Given the description of an element on the screen output the (x, y) to click on. 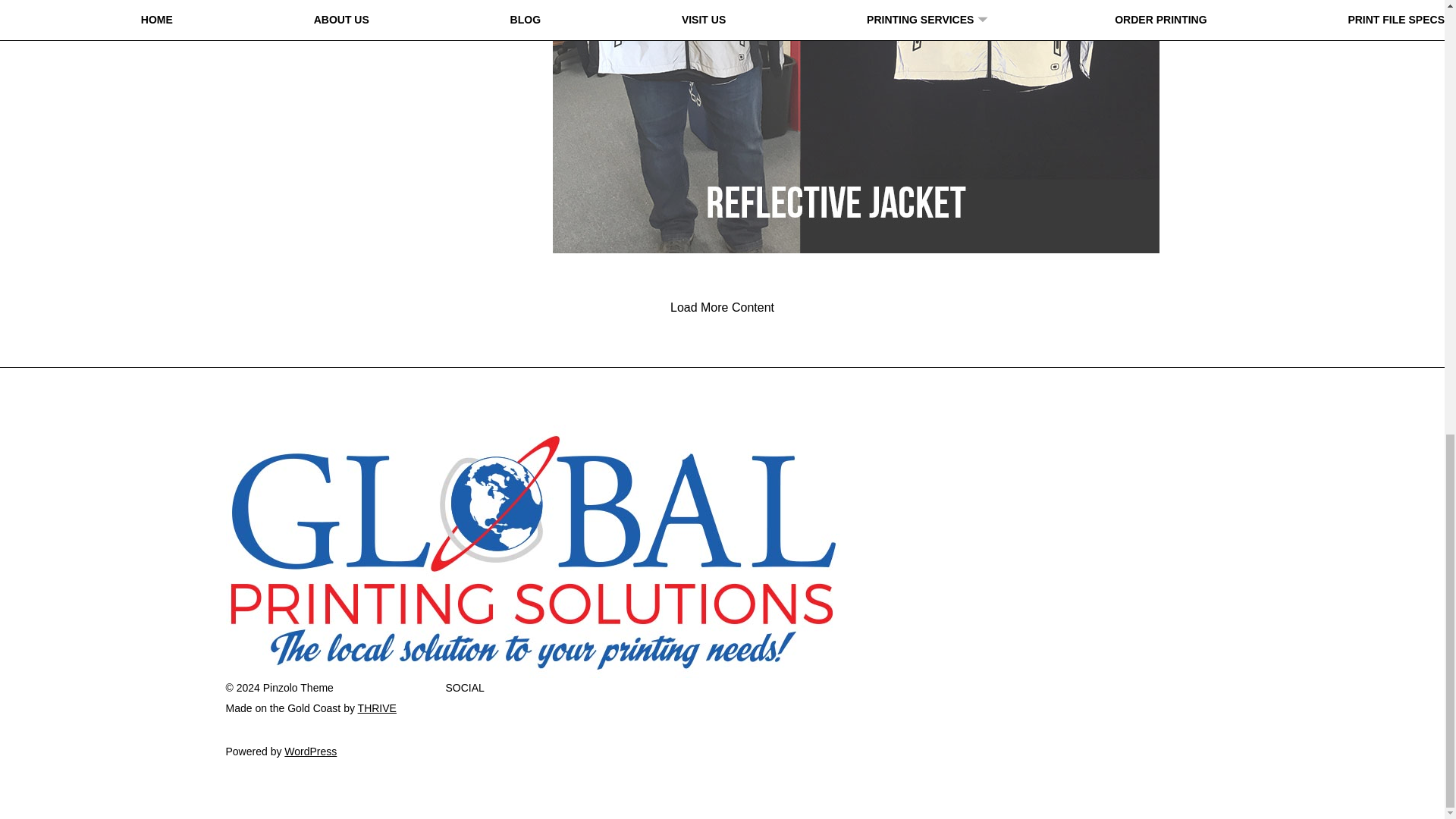
WordPress (309, 751)
